Given the description of an element on the screen output the (x, y) to click on. 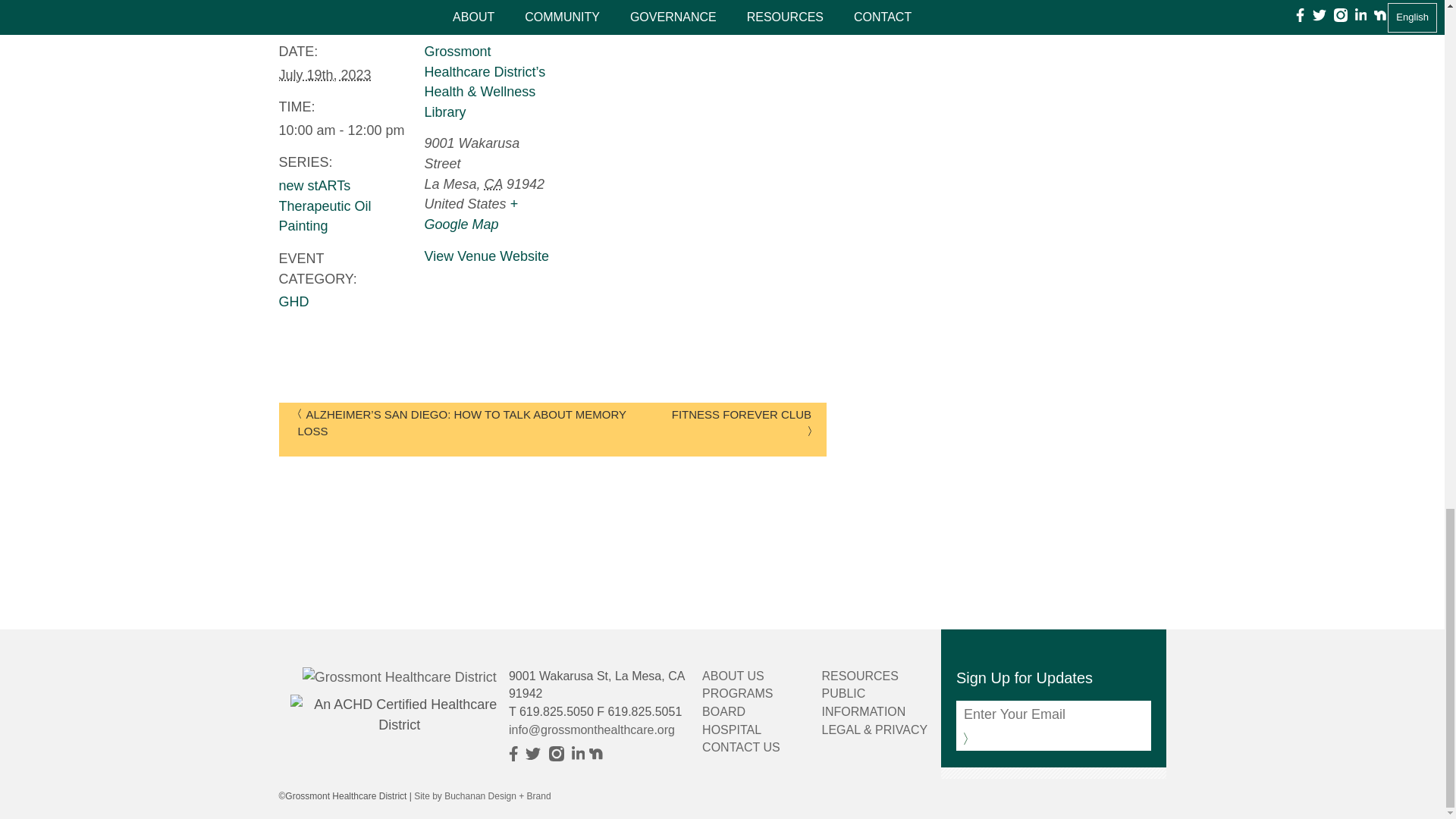
2023-07-19 (342, 130)
Click to view a Google Map (471, 213)
new stARTs Therapeutic Oil Painting (325, 205)
2023-07-19 (325, 74)
California (493, 183)
